Given the description of an element on the screen output the (x, y) to click on. 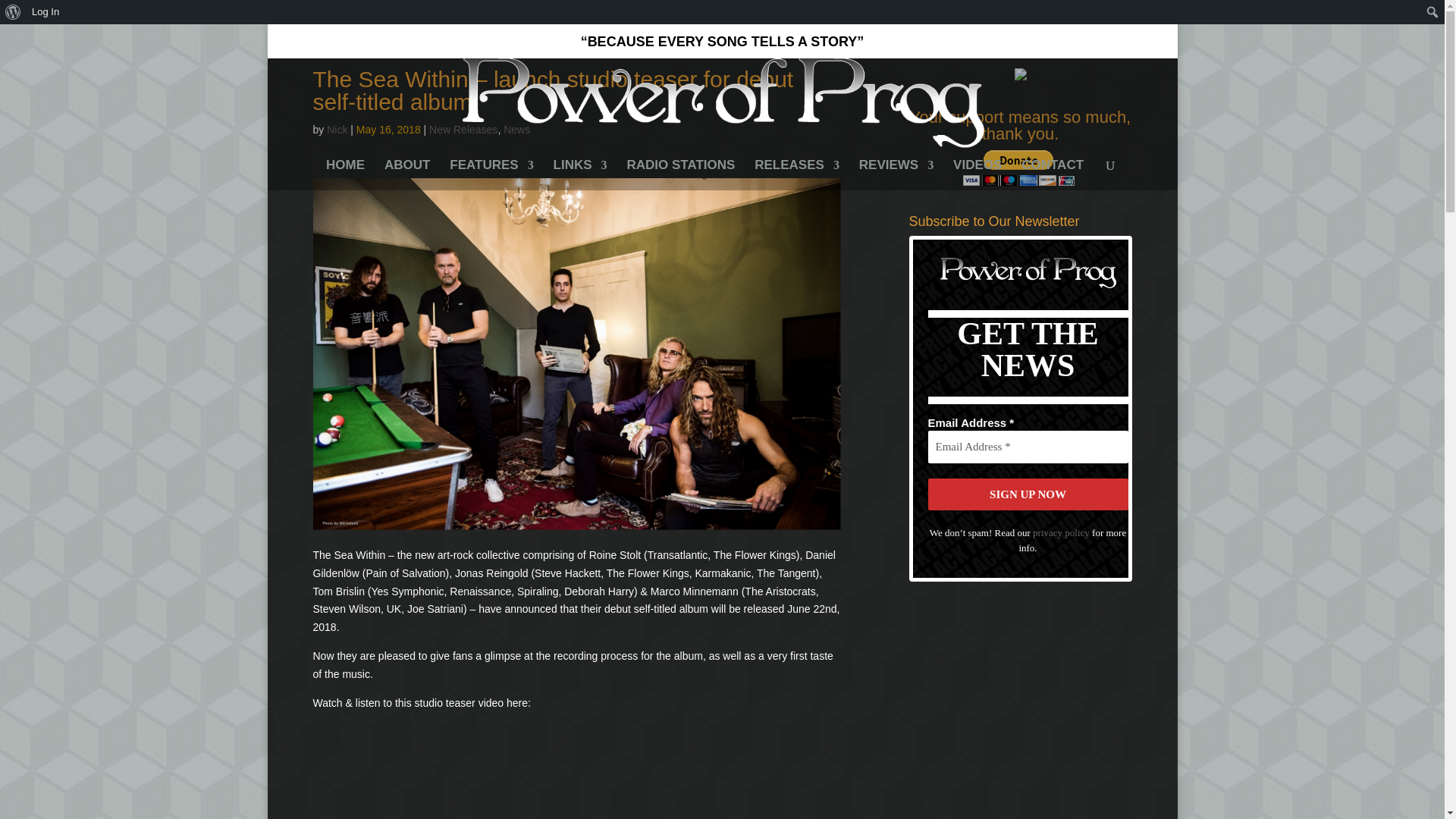
News (516, 129)
Nick (336, 129)
RADIO STATIONS (680, 174)
FEATURES (490, 174)
Posts by Nick (336, 129)
Email Address (1028, 446)
New Releases (463, 129)
Log In (45, 12)
REVIEWS (896, 174)
ABOUT (406, 174)
